Given the description of an element on the screen output the (x, y) to click on. 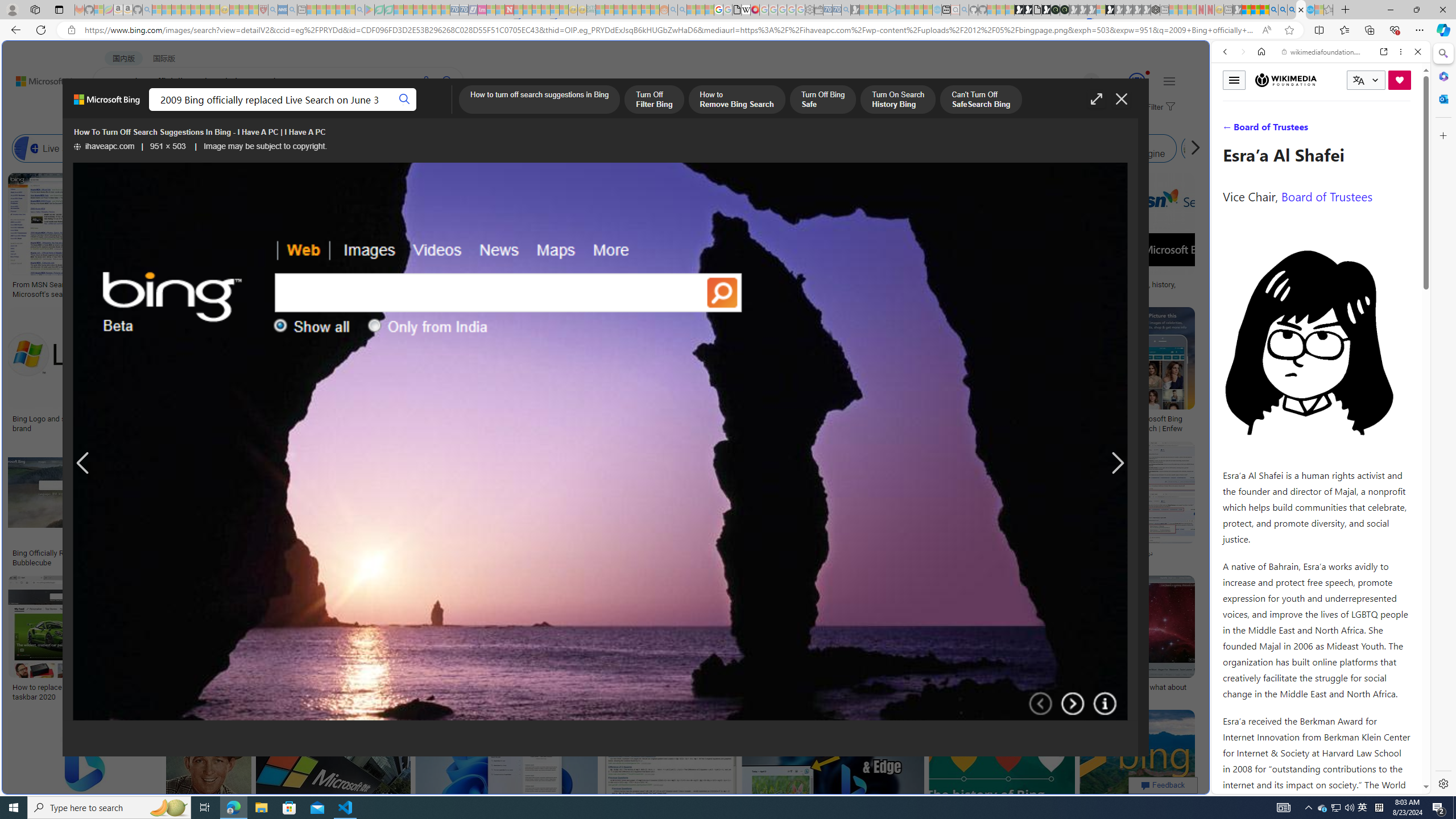
Eugene (1074, 81)
Animation (1147, 72)
Live Search (57, 148)
